Given the description of an element on the screen output the (x, y) to click on. 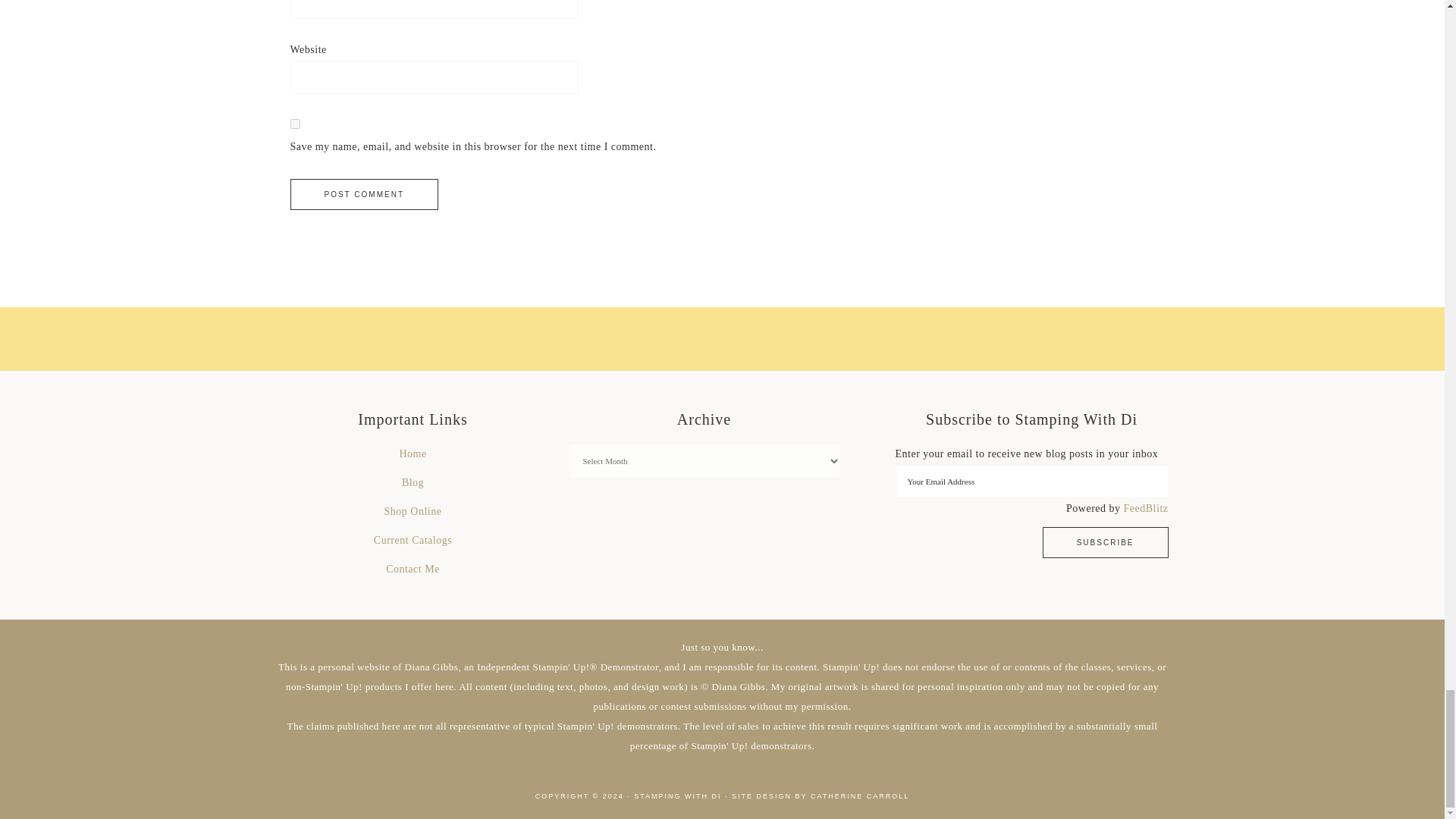
yes (294, 123)
Subscribe (1105, 542)
Post Comment (363, 194)
Post Comment (363, 194)
